Given the description of an element on the screen output the (x, y) to click on. 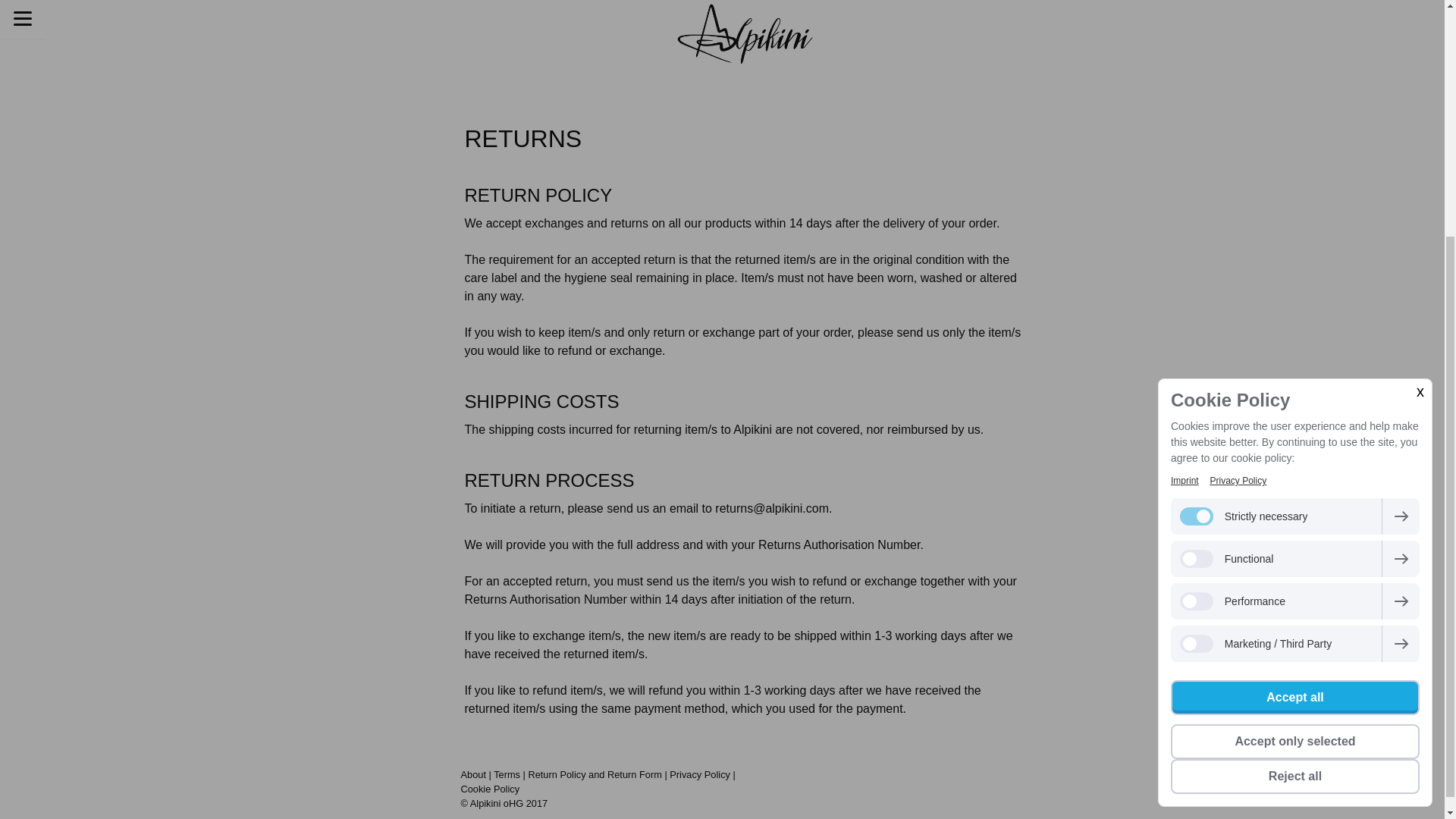
Imprint (1184, 151)
Privacy Policy (699, 774)
Return Policy and Return Form (594, 774)
About (473, 774)
Cookie Policy (490, 788)
Privacy Policy (1237, 151)
Terms (506, 774)
